Given the description of an element on the screen output the (x, y) to click on. 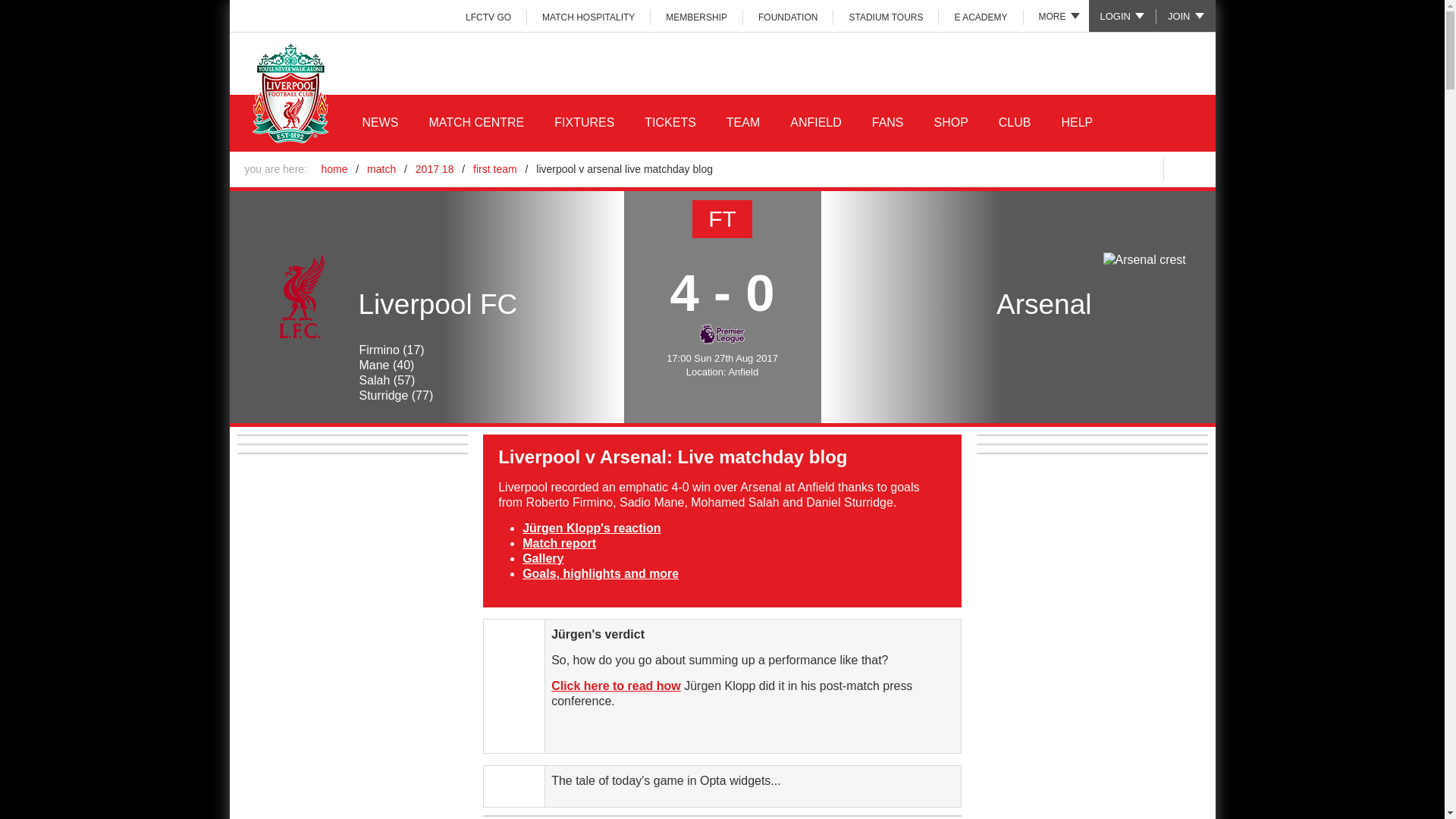
Go to The Official Liverpool Football Club Instagram page (1078, 169)
FOUNDATION (787, 17)
MATCH HOSPITALITY (588, 17)
LFCTV GO (488, 17)
Go to The Official Liverpool Football Club Facebook page (1015, 169)
Arsenal (1143, 259)
E ACADEMY (981, 17)
Go to The Official Liverpool Football Club Alexa page (1142, 169)
Go to The Official Liverpool Football Club Youtube page (1110, 169)
Liverpool FC (301, 297)
